Given the description of an element on the screen output the (x, y) to click on. 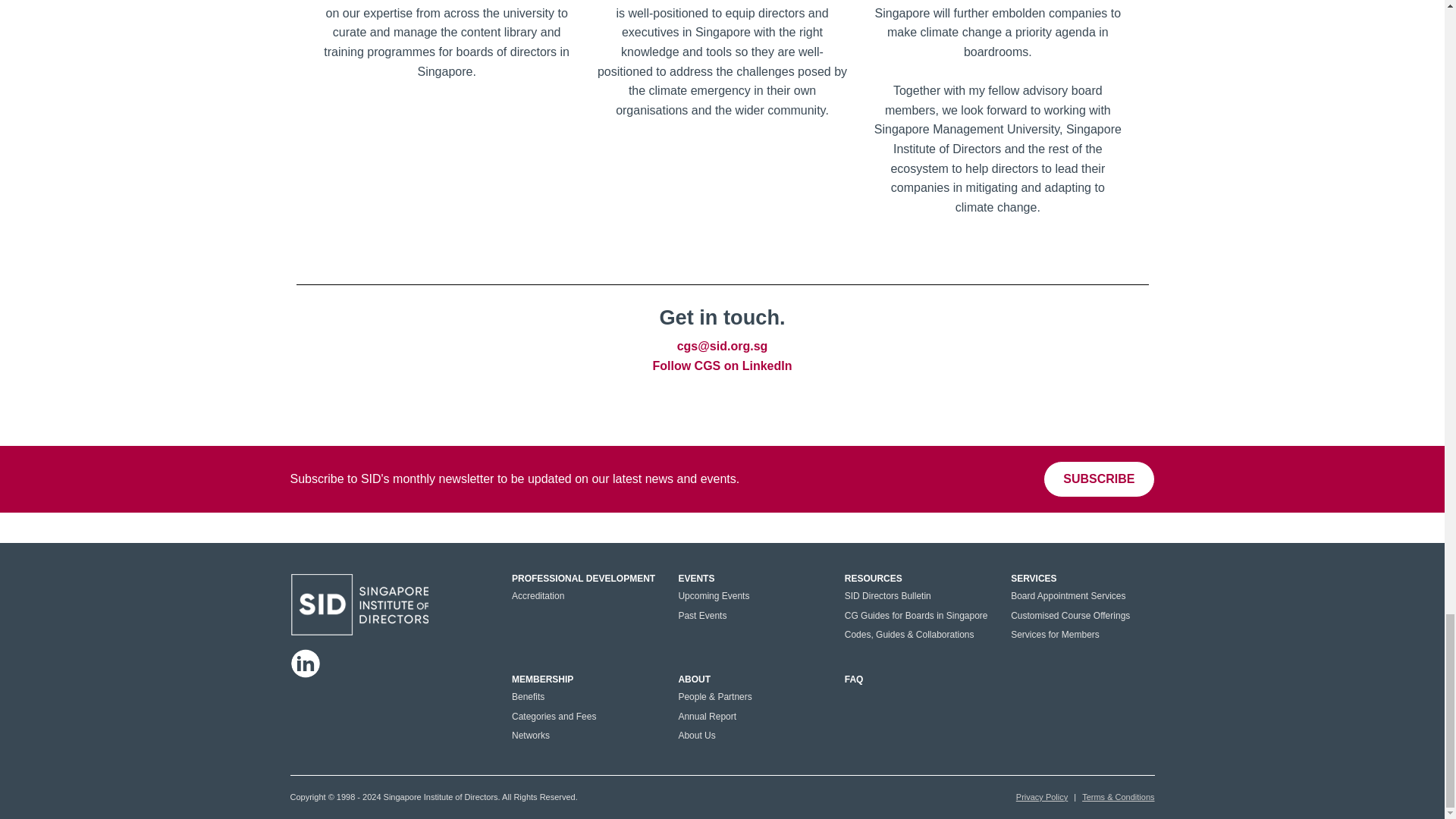
Accreditation (538, 595)
PROFESSIONAL DEVELOPMENT (583, 578)
RESOURCES (873, 578)
Follow CGS on LinkedIn (722, 365)
SUBSCRIBE (1098, 479)
EVENTS (696, 578)
Upcoming Events (713, 595)
Past Events (702, 615)
